Given the description of an element on the screen output the (x, y) to click on. 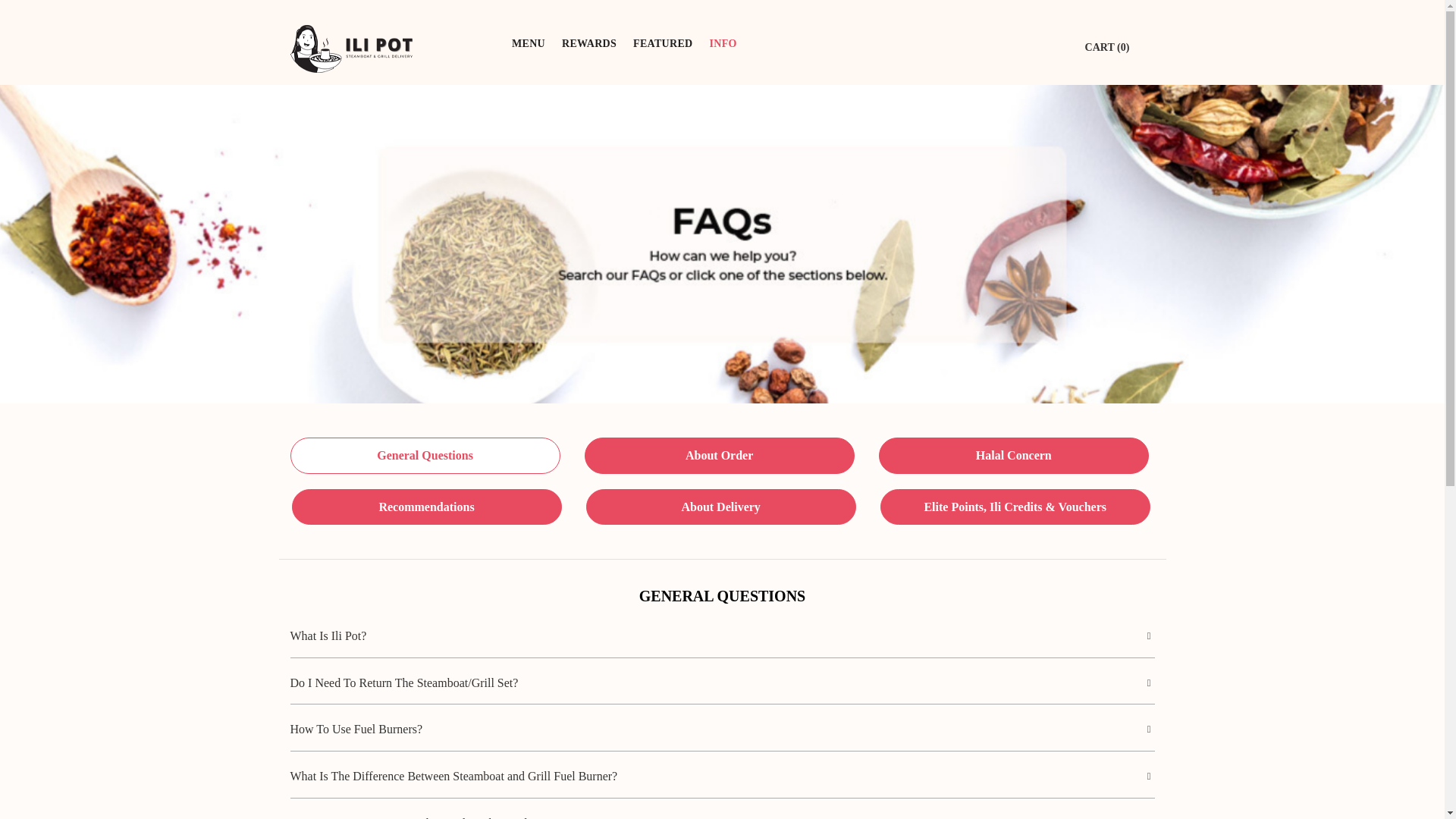
FEATURED (662, 42)
MENU (528, 42)
REWARDS (588, 42)
Lisa from ILIPOT (350, 48)
INFO (722, 42)
